Given the description of an element on the screen output the (x, y) to click on. 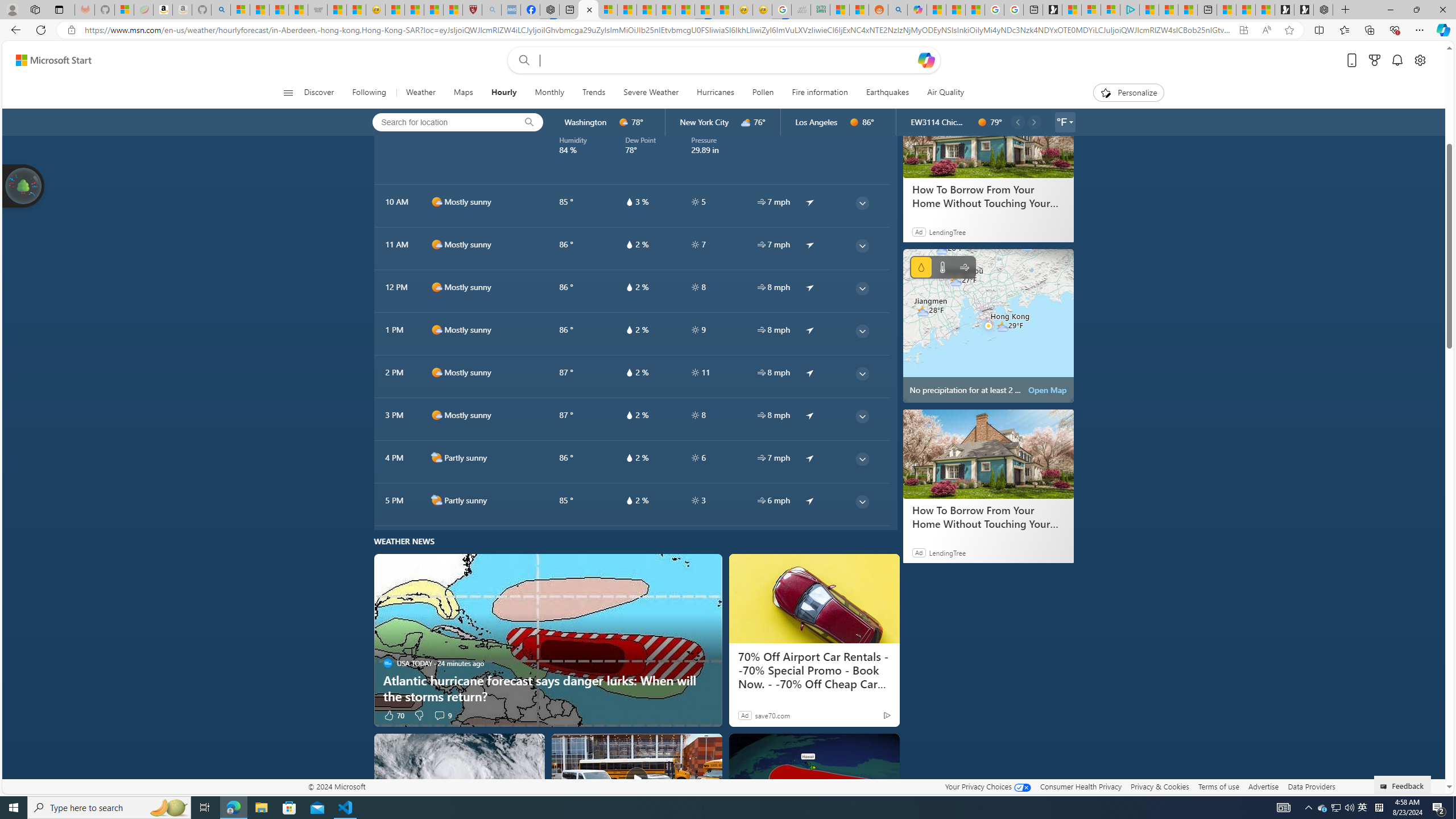
Data Providers (1311, 786)
Trends (593, 92)
Privacy & Cookies (1160, 786)
d0000 (981, 121)
Open navigation menu (287, 92)
Search for location (440, 122)
Maps (462, 92)
common/carouselChevron (1033, 122)
